Given the description of an element on the screen output the (x, y) to click on. 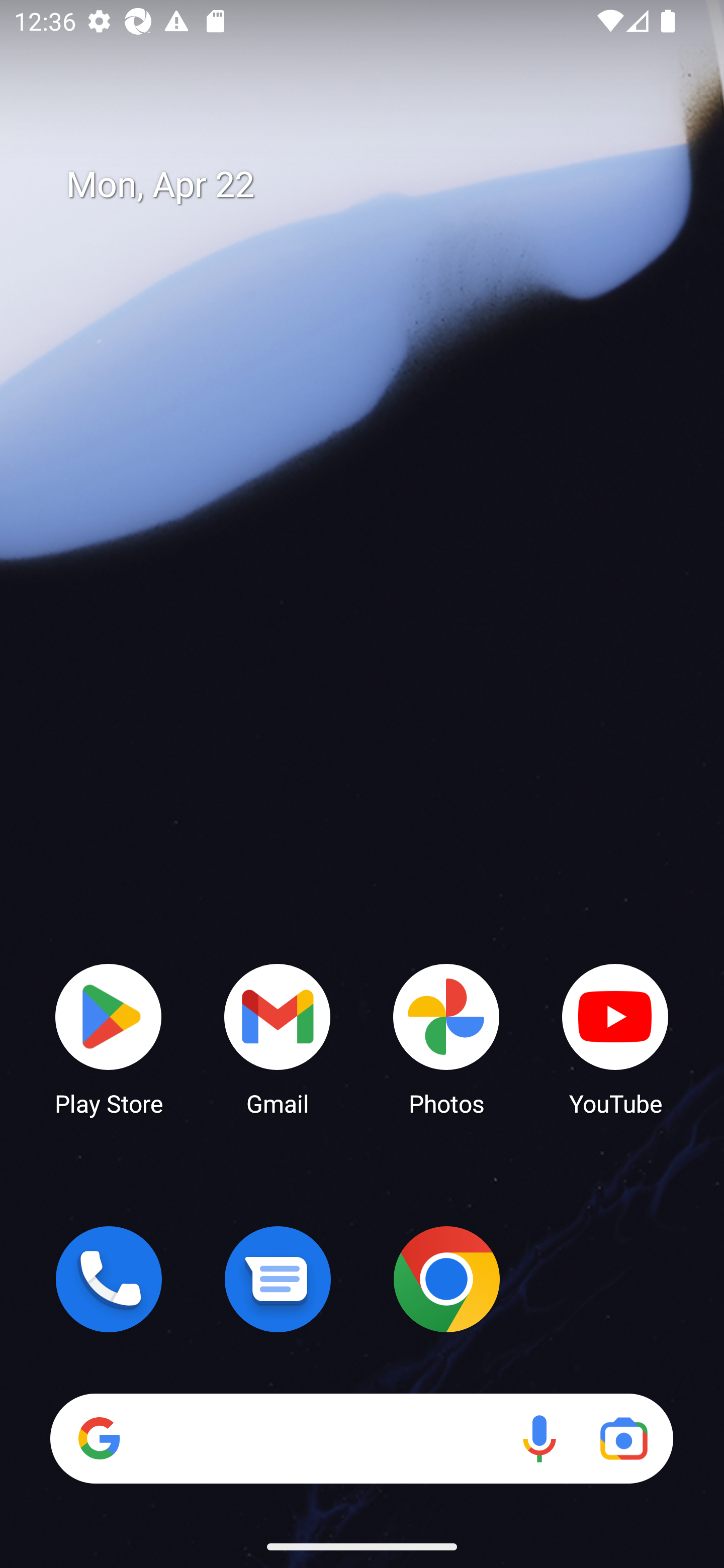
Mon, Apr 22 (375, 184)
Play Store (108, 1038)
Gmail (277, 1038)
Photos (445, 1038)
YouTube (615, 1038)
Phone (108, 1279)
Messages (277, 1279)
Chrome (446, 1279)
Search Voice search Google Lens (361, 1438)
Voice search (539, 1438)
Google Lens (623, 1438)
